Given the description of an element on the screen output the (x, y) to click on. 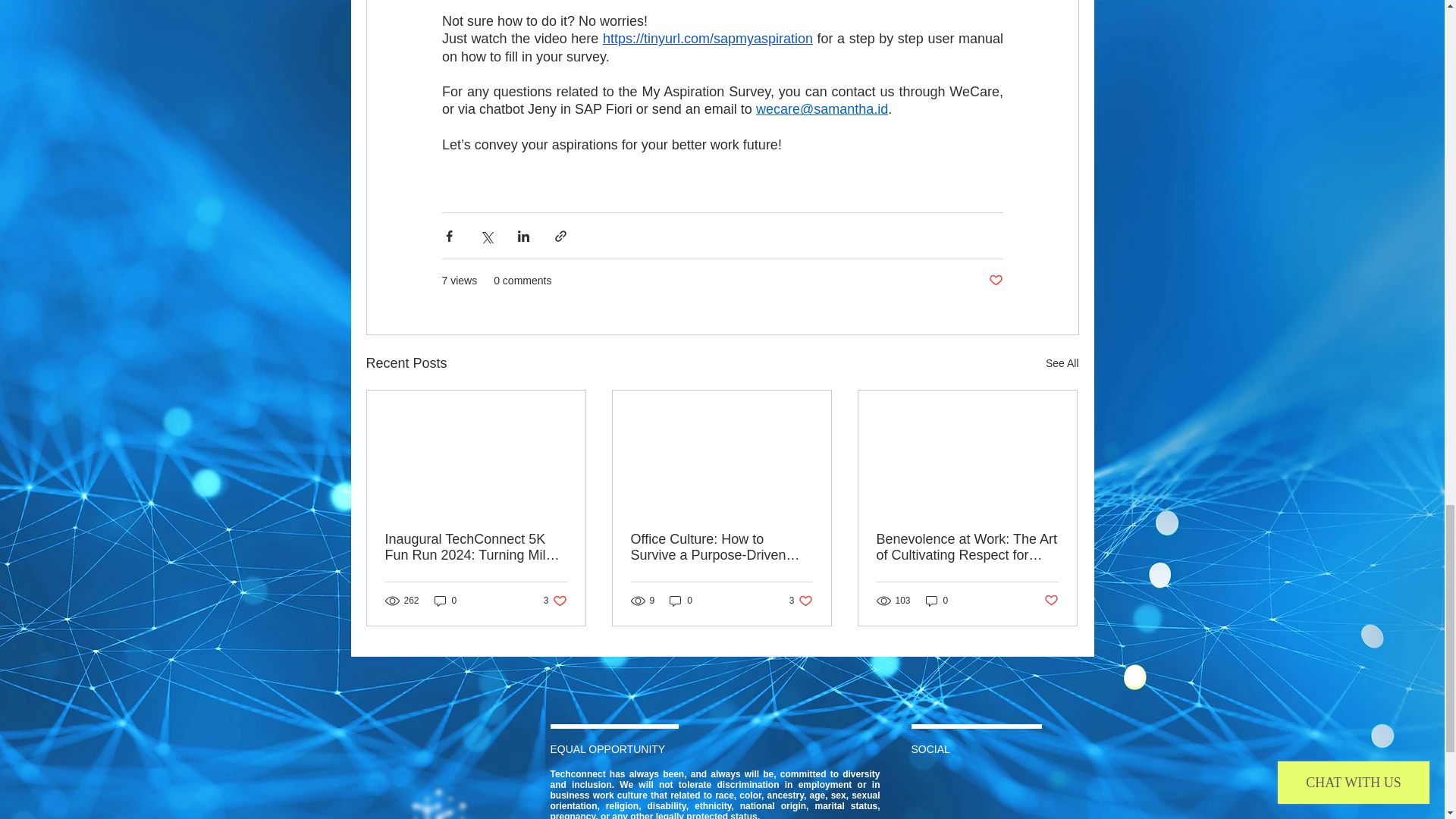
Post not marked as liked (1050, 600)
0 (937, 600)
0 (445, 600)
0 (681, 600)
Post not marked as liked (995, 280)
See All (1061, 363)
Office Culture: How to Survive a Purpose-Driven Culture (800, 600)
